Given the description of an element on the screen output the (x, y) to click on. 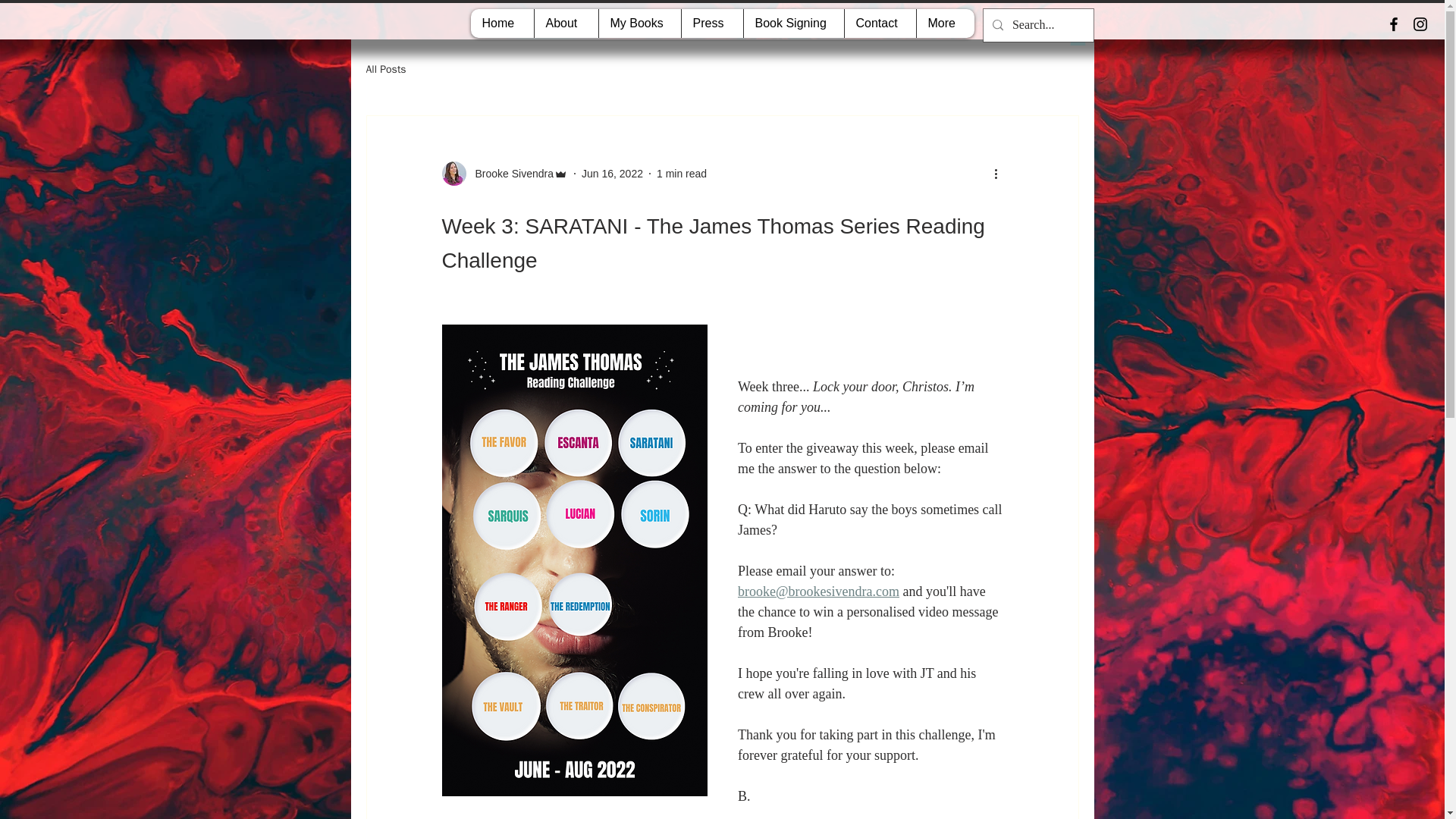
Jun 16, 2022 (611, 173)
All Posts (385, 69)
Brooke Sivendra (504, 173)
My Books (637, 23)
Contact (879, 23)
About (566, 23)
Home (501, 23)
Book Signing (793, 23)
Brooke Sivendra (509, 173)
Press (711, 23)
1 min read (681, 173)
